Given the description of an element on the screen output the (x, y) to click on. 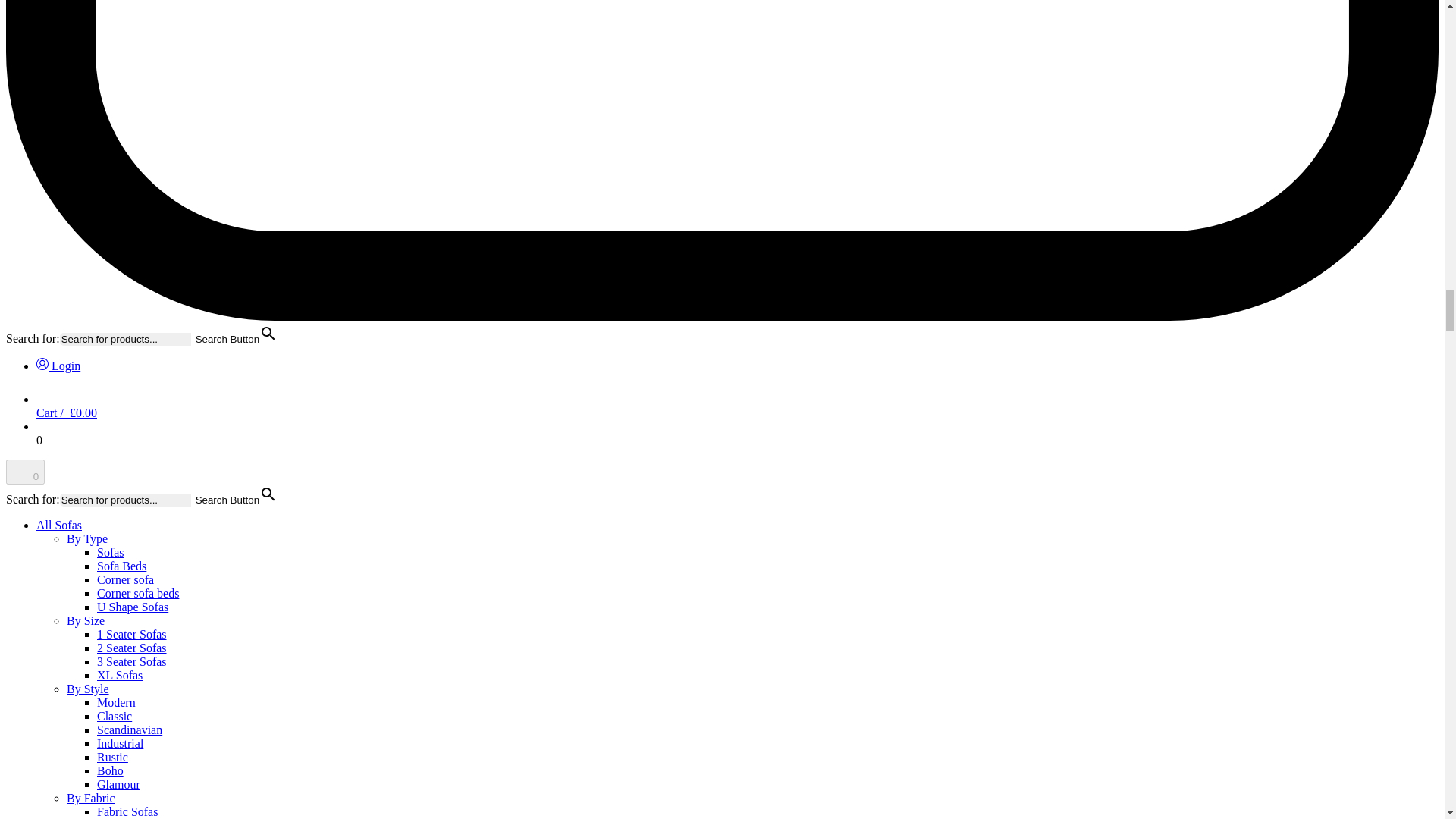
Modern (116, 702)
By Size (85, 620)
Corner sofa (125, 579)
Login or register (58, 365)
Corner sofa beds (138, 593)
2 Seater Sofas (132, 647)
Boho (110, 770)
Rustic (112, 757)
Sofas (110, 552)
XL Sofas (119, 675)
Sofa Beds (122, 565)
3 Seater Sofas (132, 661)
0 (25, 471)
1 Seater Sofas (132, 634)
By Style (87, 688)
